Given the description of an element on the screen output the (x, y) to click on. 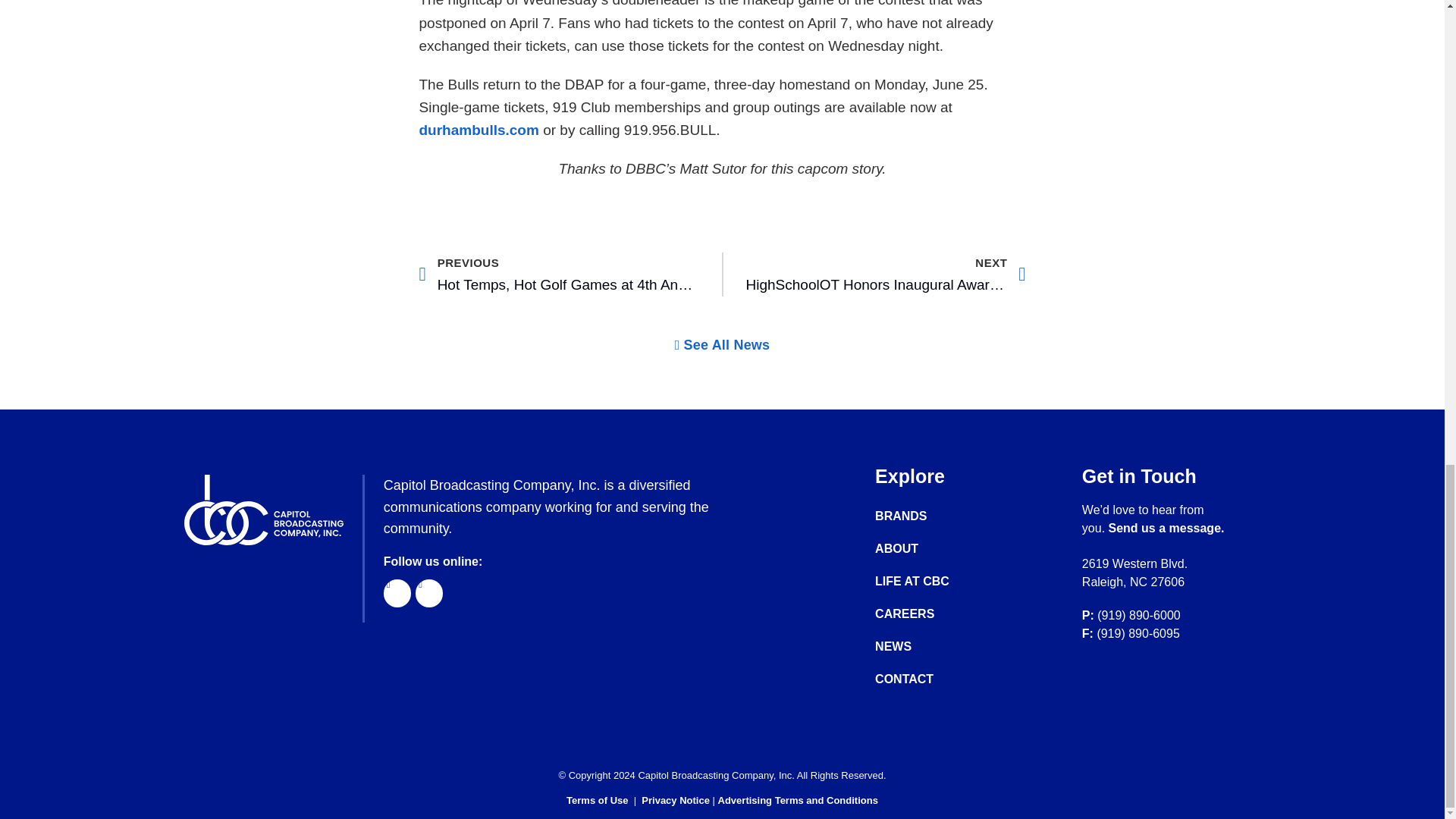
CAREERS (926, 613)
LIFE AT CBC (926, 581)
ABOUT (926, 548)
Terms of Use (596, 799)
CONTACT (926, 679)
See All News (722, 345)
NEWS (926, 646)
BRANDS (926, 516)
